Given the description of an element on the screen output the (x, y) to click on. 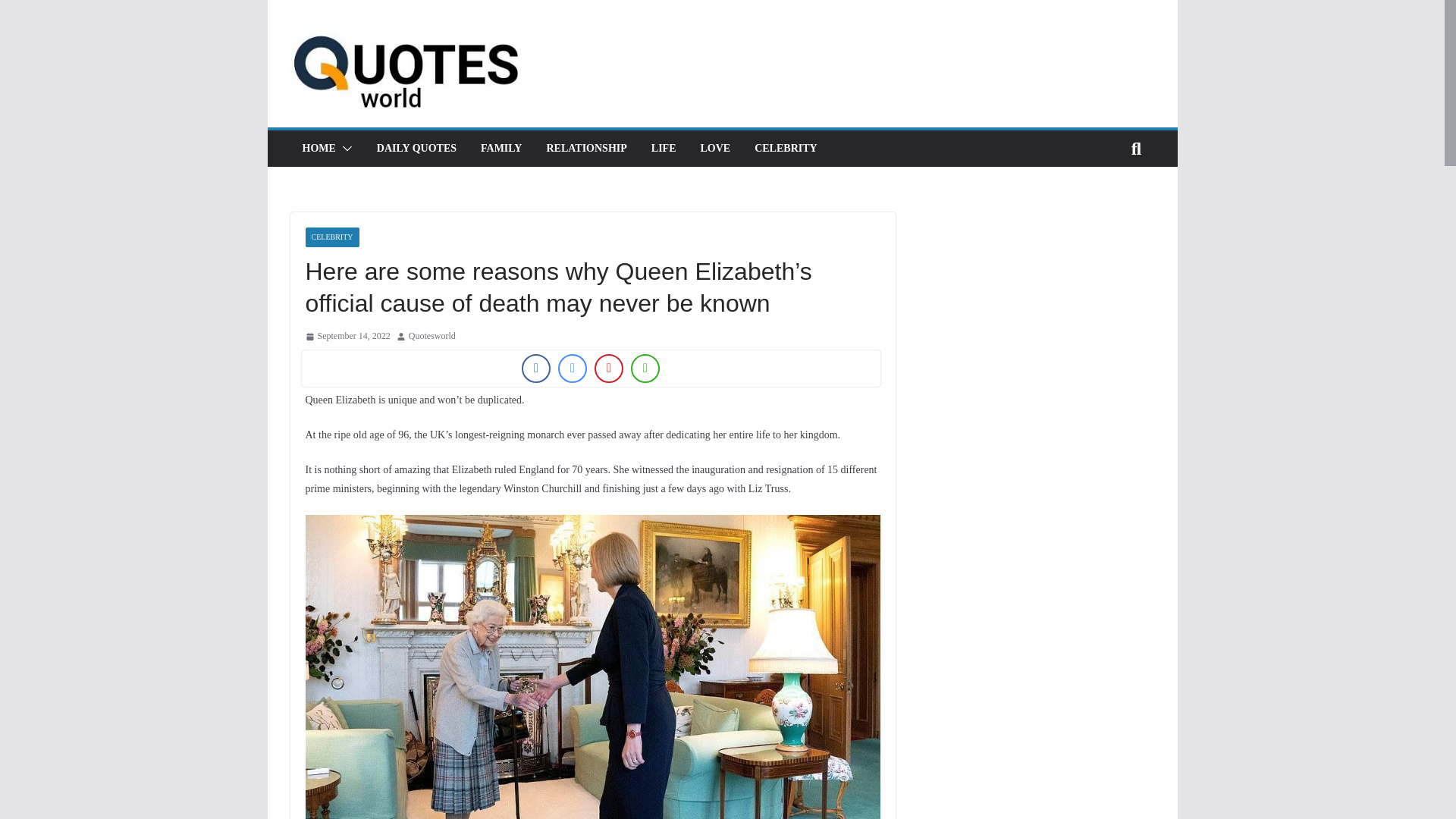
RELATIONSHIP (586, 148)
3:17 pm (347, 336)
FAMILY (500, 148)
DAILY QUOTES (417, 148)
CELEBRITY (785, 148)
LOVE (715, 148)
CELEBRITY (331, 237)
September 14, 2022 (347, 336)
Quotesworld (432, 336)
LIFE (663, 148)
